Given the description of an element on the screen output the (x, y) to click on. 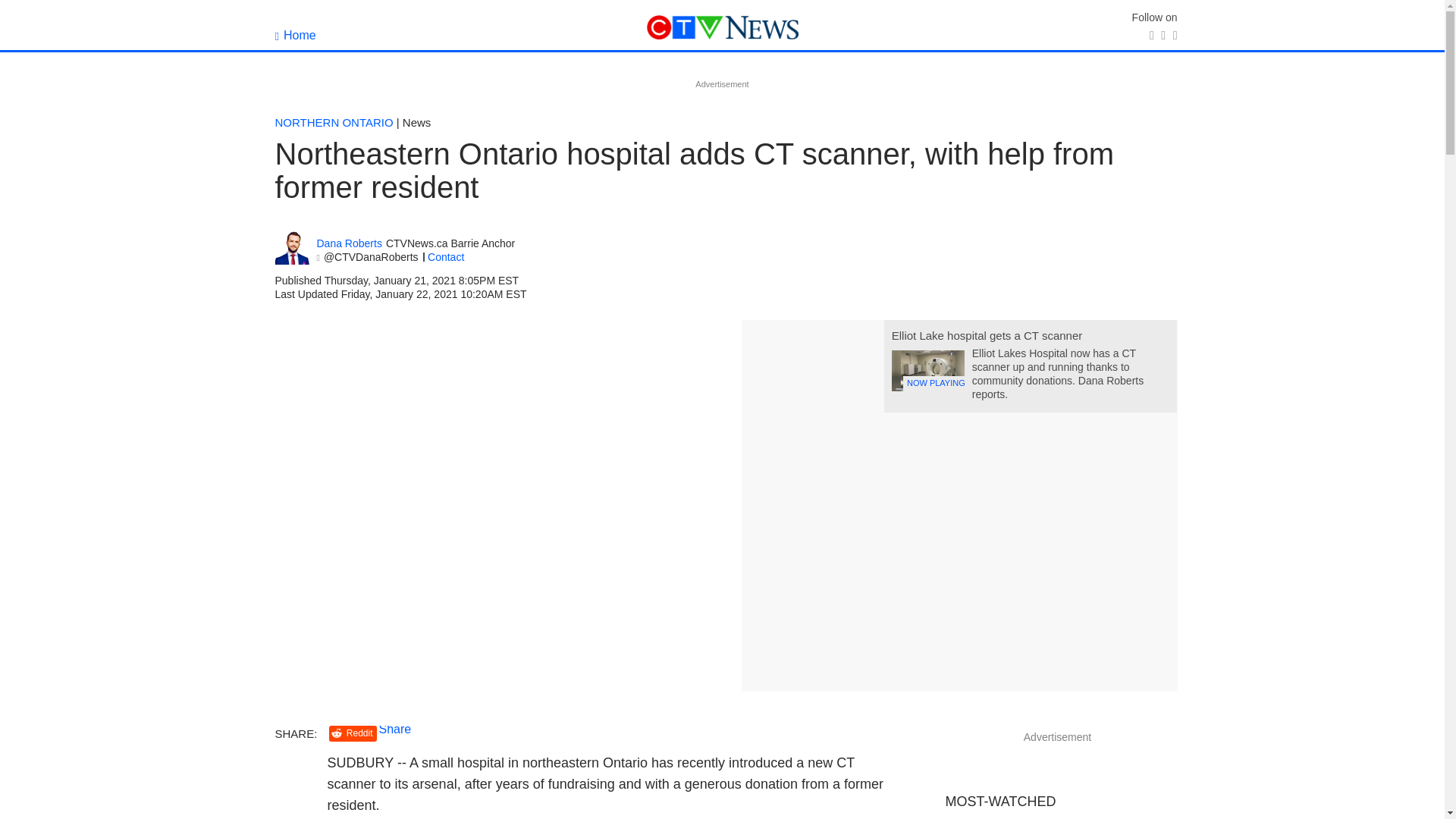
Reddit (353, 733)
Elliot Lake hospital gets a CT scanner (987, 335)
Dana Roberts (349, 243)
Contact (446, 256)
Share (395, 728)
  NOW PLAYING (927, 370)
NORTHERN ONTARIO (334, 122)
Home (295, 34)
